Given the description of an element on the screen output the (x, y) to click on. 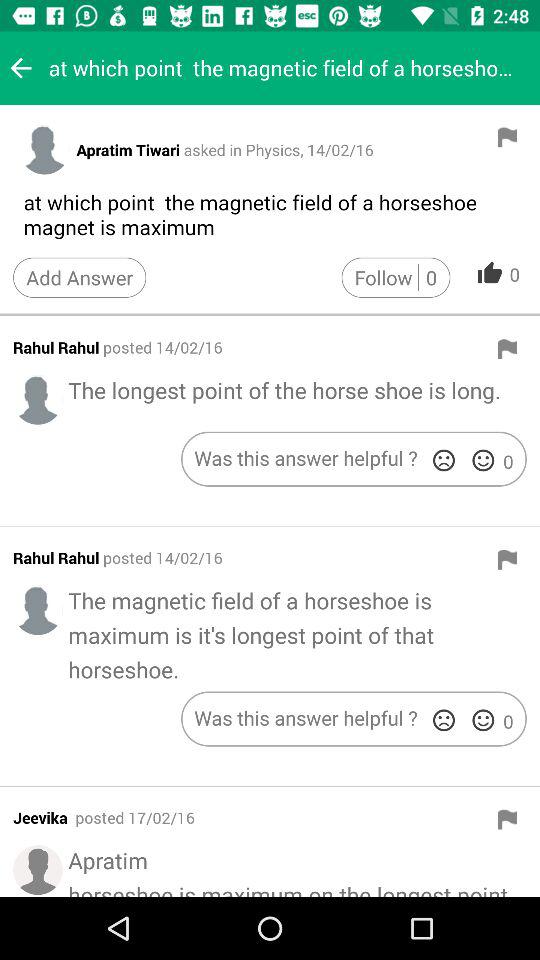
positive rating smiley face (483, 720)
